Given the description of an element on the screen output the (x, y) to click on. 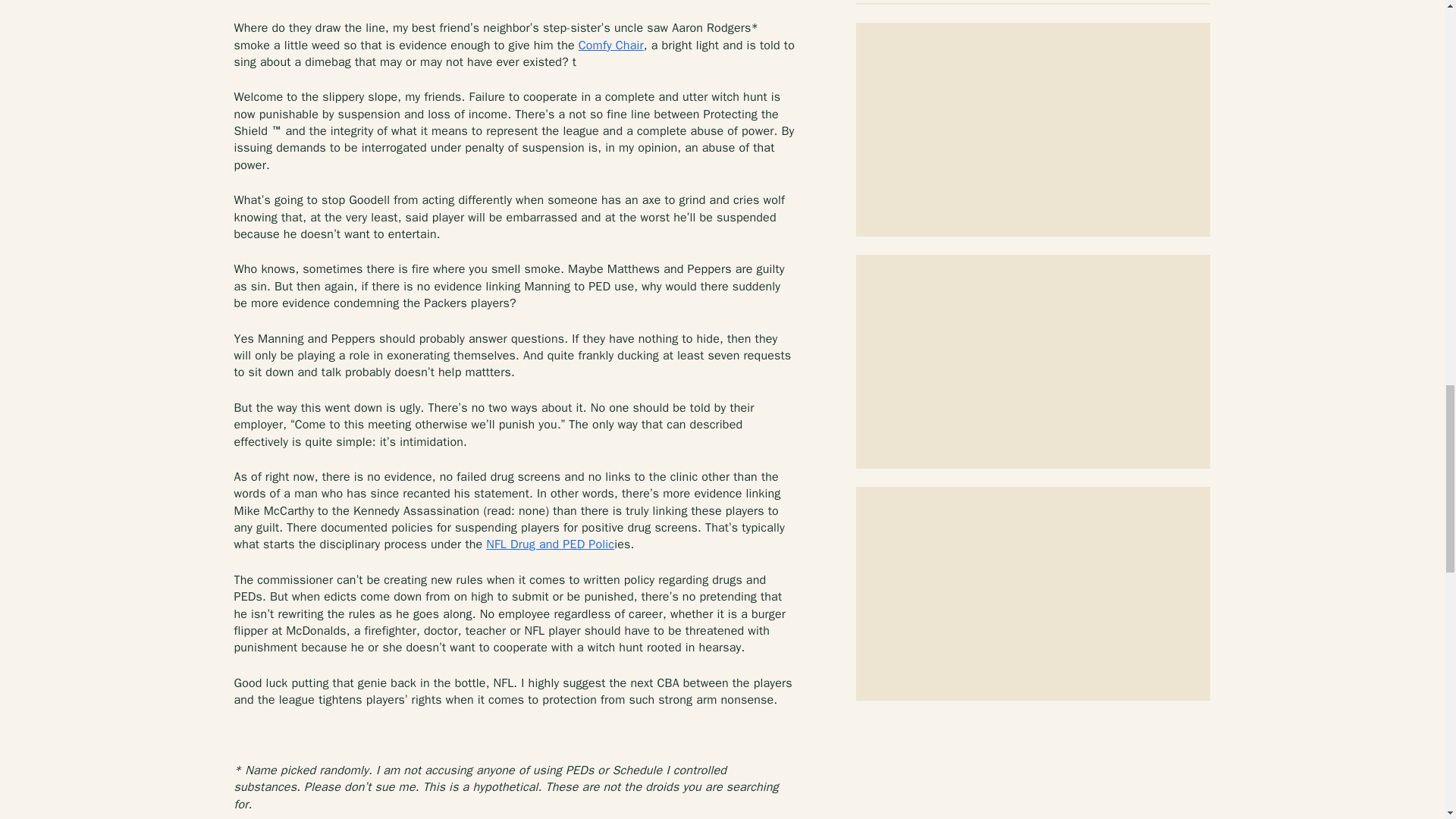
Comfy Chair (610, 45)
NFL Drug and PED Polic (550, 544)
